Given the description of an element on the screen output the (x, y) to click on. 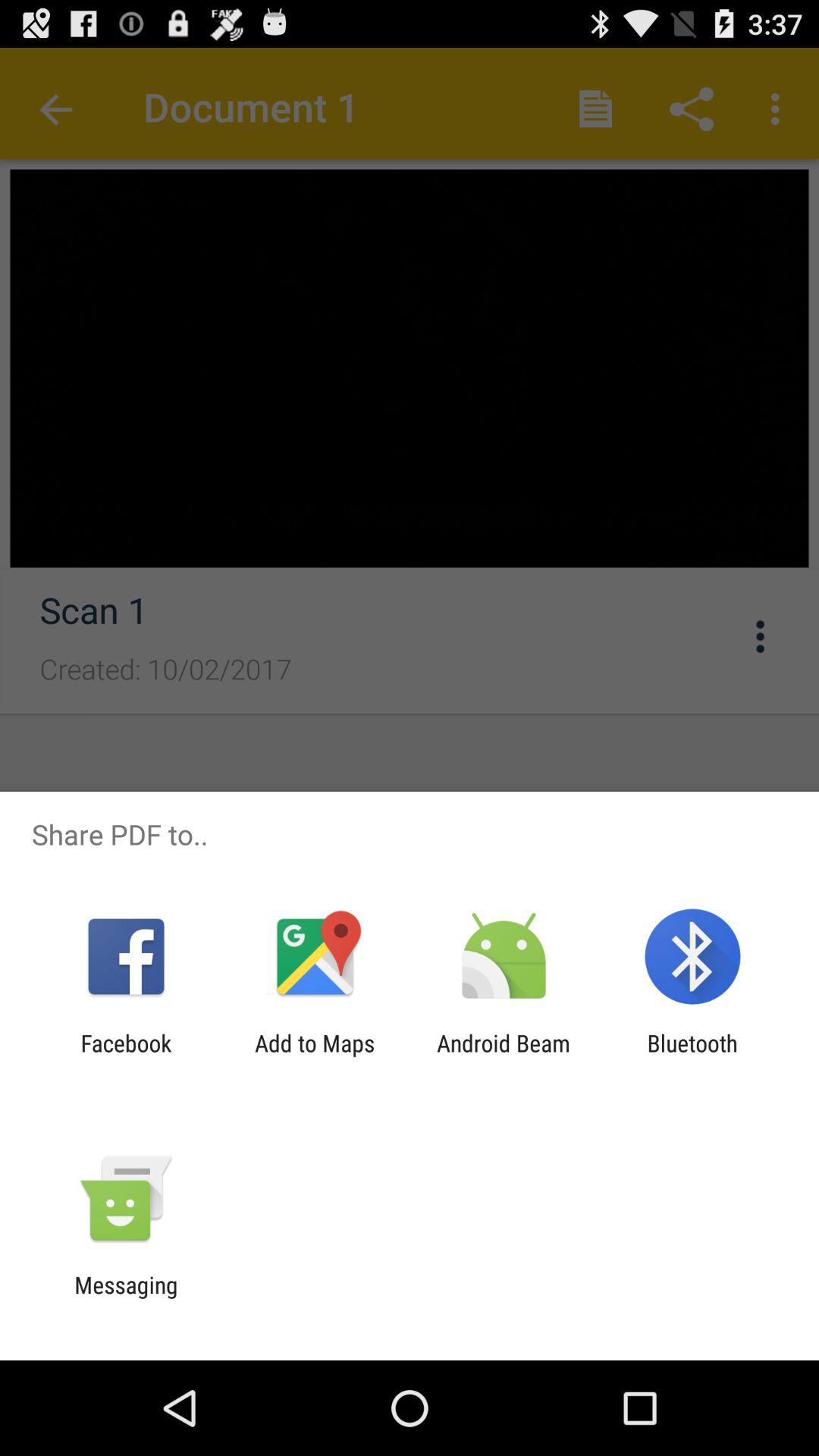
click item next to the add to maps item (125, 1056)
